Given the description of an element on the screen output the (x, y) to click on. 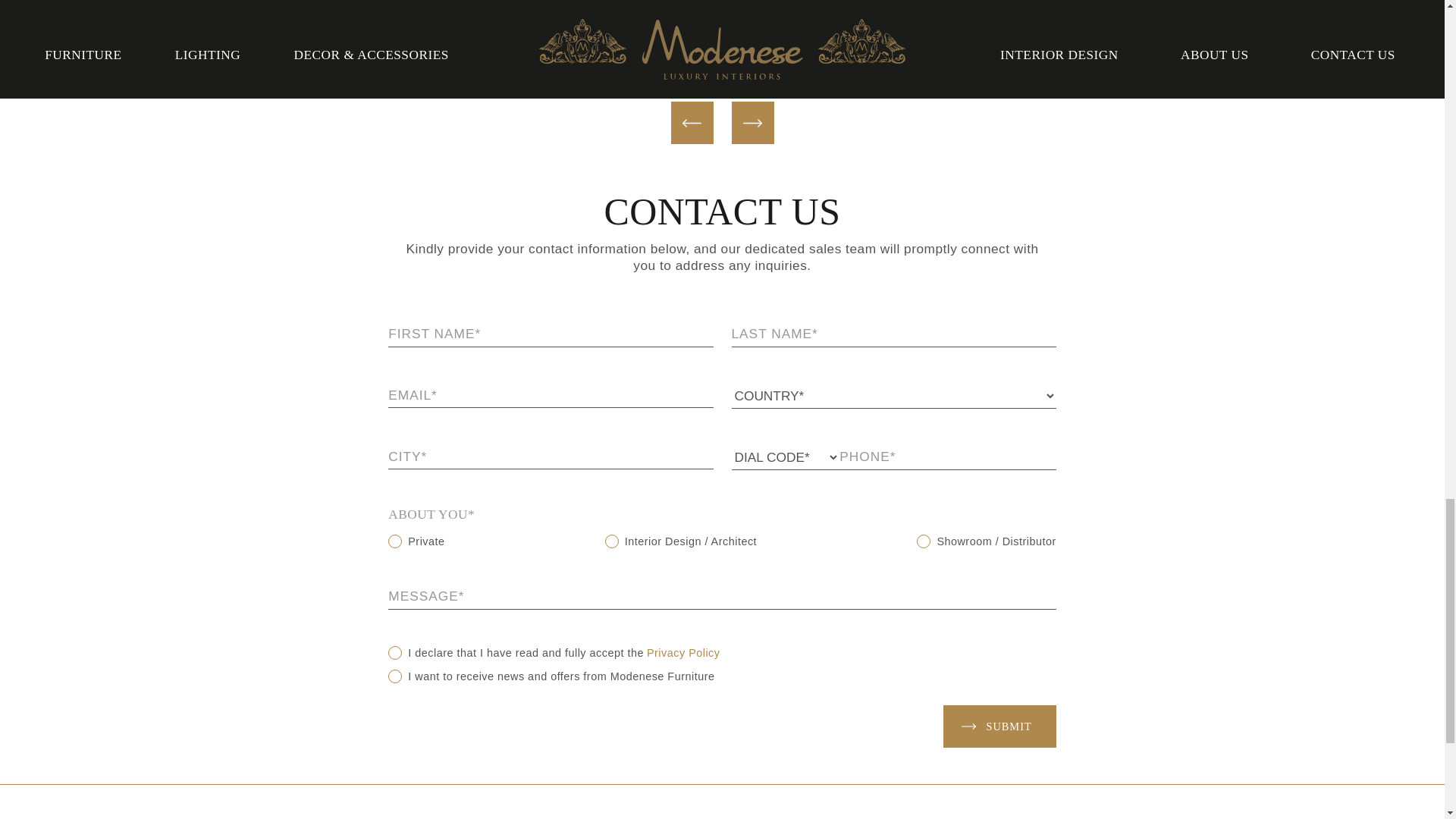
Privacy Policy  (683, 653)
SQUARE SIDE TABLE WITH GREEN ONYX TOP AND WALNUT FINISH (1209, 24)
SQUARE FLORAL FABRIC SIDE TABLE (234, 16)
MARBLE SIDE TABLE (558, 7)
CAPUCCINO ONYX ROUND SIDE TABLE (883, 16)
